Given the description of an element on the screen output the (x, y) to click on. 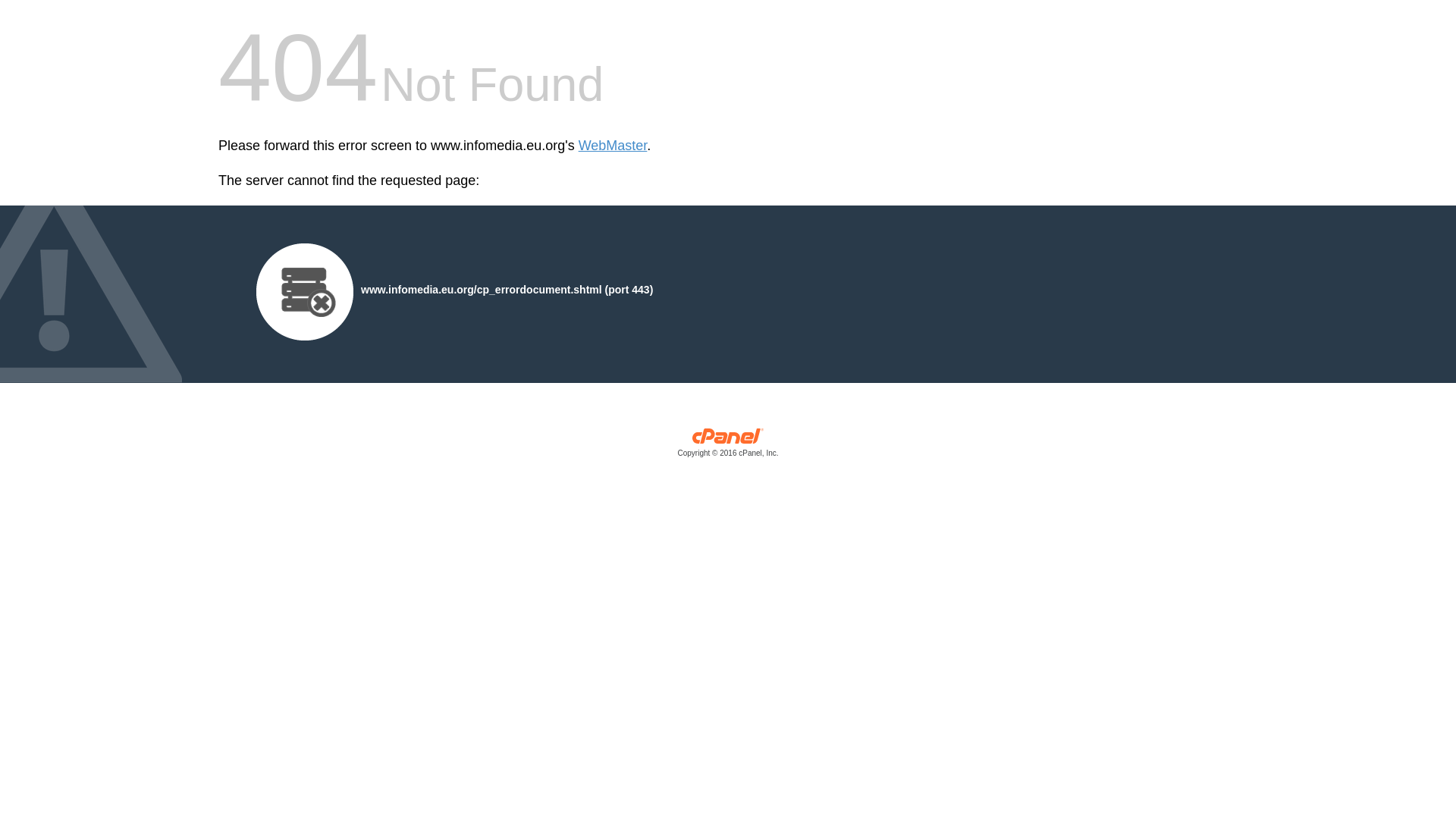
WebMaster (612, 145)
cPanel, Inc. (727, 446)
